Given the description of an element on the screen output the (x, y) to click on. 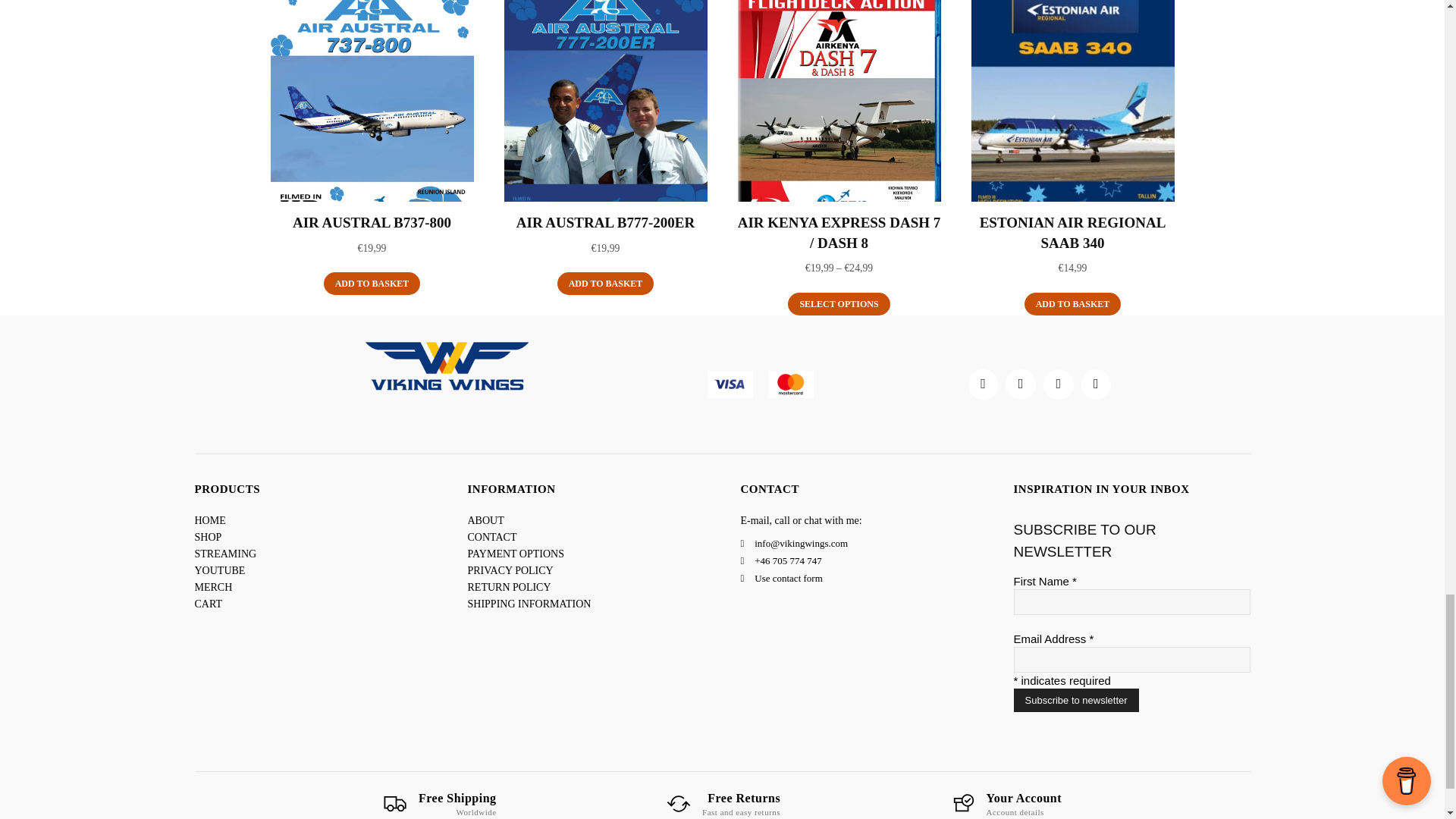
AIR AUSTRAL B737-800 (371, 222)
Air Austral B777-200ER (604, 100)
Subscribe to newsletter (1075, 699)
Air Austral B737-800 (371, 100)
